Given the description of an element on the screen output the (x, y) to click on. 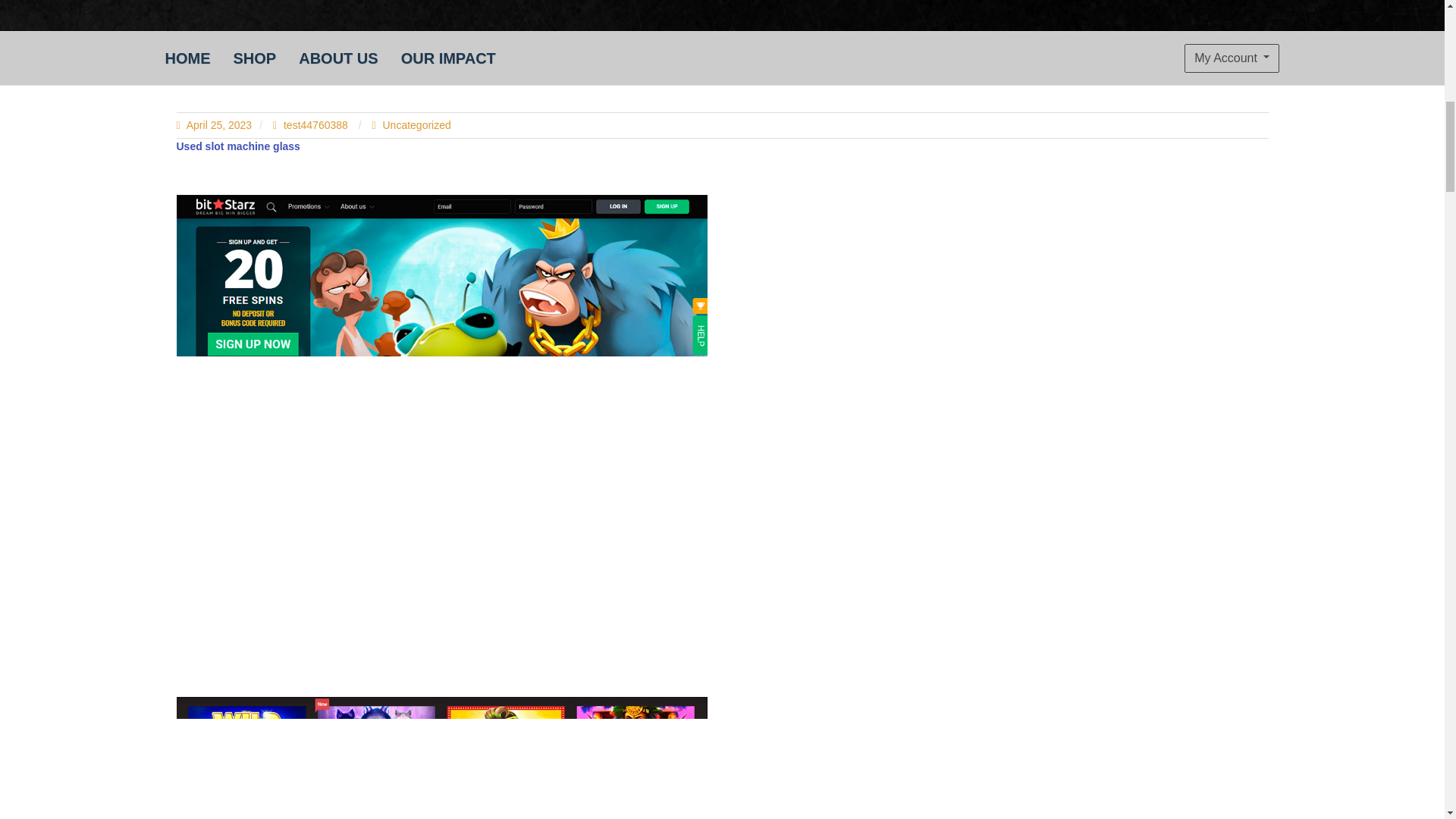
My Account (1232, 58)
Used slot machine glass (441, 757)
ABOUT US (337, 57)
OUR IMPACT (448, 57)
HOME (186, 57)
SHOP (253, 57)
Uncategorized (415, 123)
test44760388 (311, 123)
Used slot machine glass (237, 145)
April 25, 2023 (213, 123)
